Given the description of an element on the screen output the (x, y) to click on. 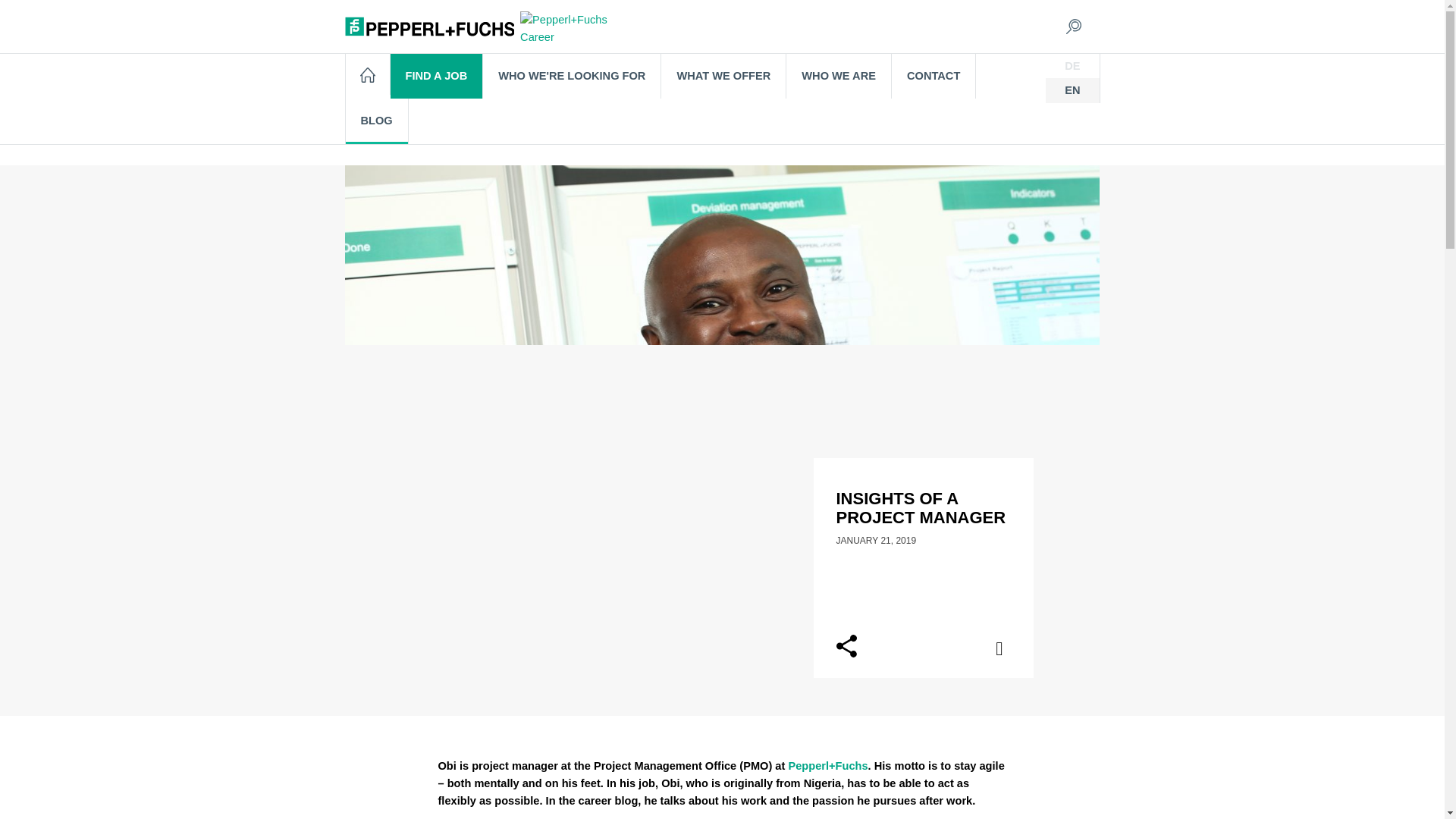
Like (1007, 651)
WHAT WE OFFER (723, 76)
Professionals (652, 126)
DE (1072, 65)
WHO WE ARE (838, 76)
FIND A JOB (436, 76)
CONTACT (933, 76)
Home (368, 74)
WHO WE'RE LOOKING FOR (572, 76)
BLOG (377, 120)
College students (860, 126)
Suchen (906, 16)
Latest News (572, 126)
Young professionals (752, 126)
